Given the description of an element on the screen output the (x, y) to click on. 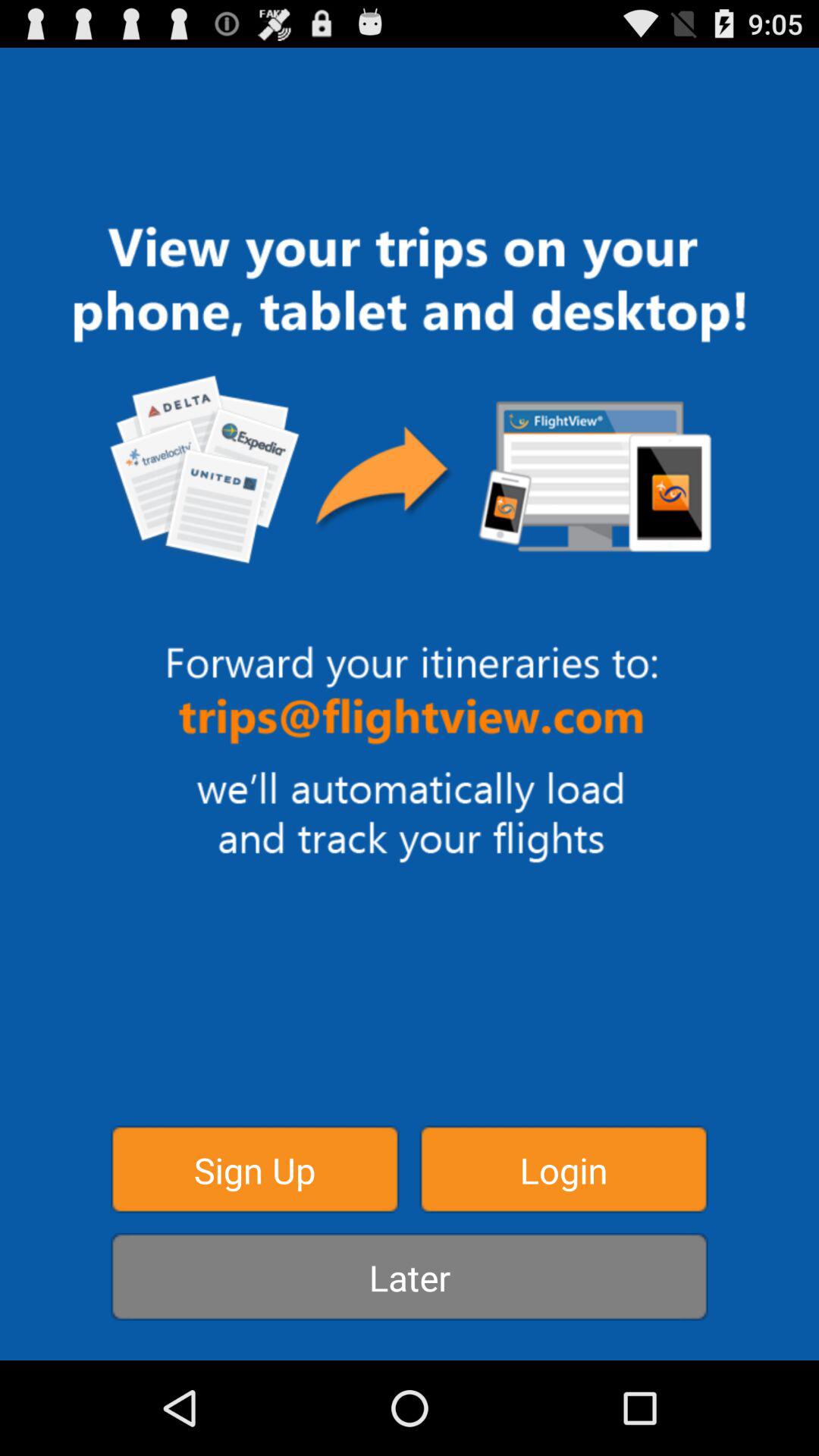
turn on button at the bottom (409, 1276)
